Given the description of an element on the screen output the (x, y) to click on. 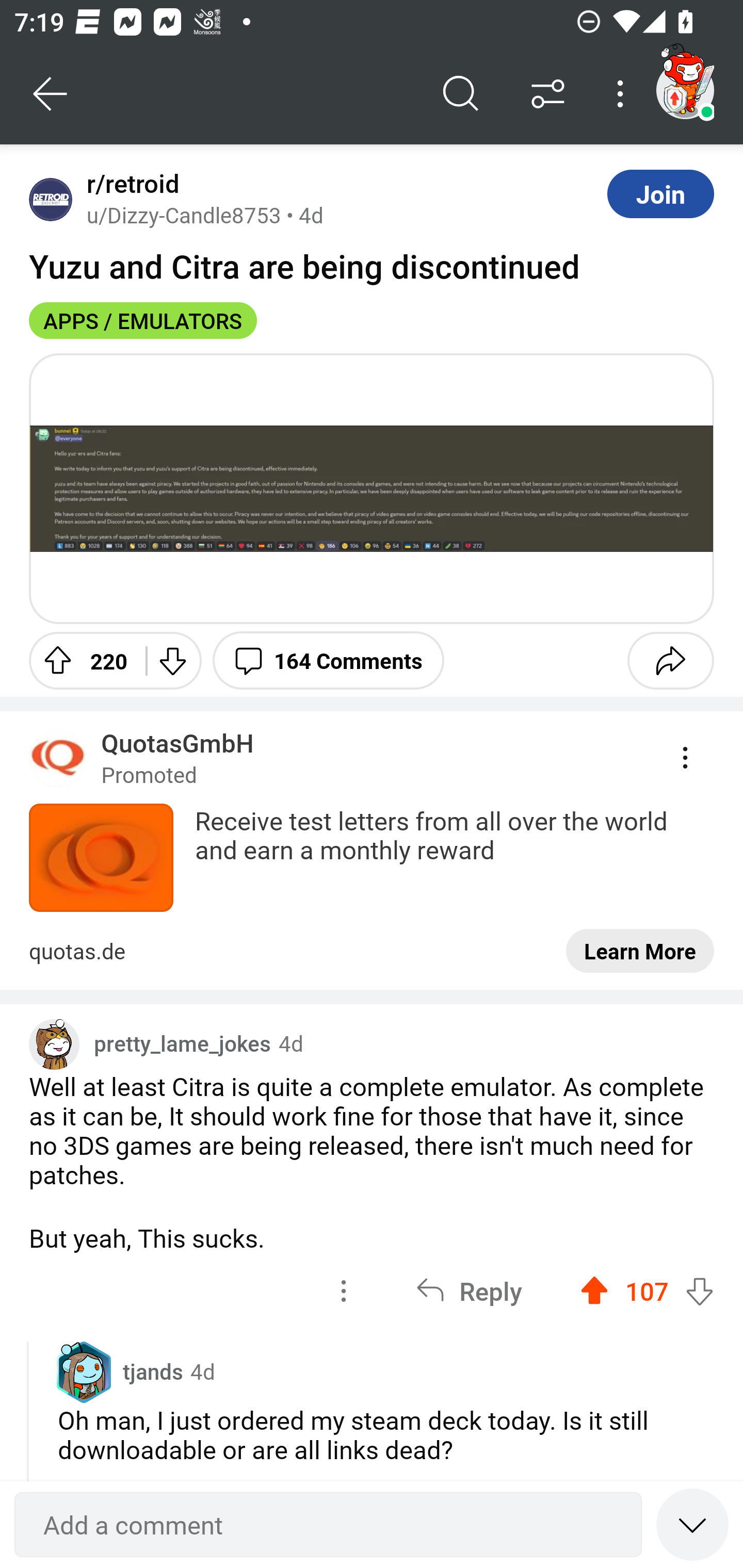
Back (50, 93)
TestAppium002 account (685, 90)
Search comments (460, 93)
Sort comments (547, 93)
More options (623, 93)
r/retroid (129, 183)
Join (660, 193)
Avatar (50, 199)
APPS / EMULATORS (142, 320)
Image (371, 488)
Upvote 220 (79, 660)
Downvote (171, 660)
164 Comments (328, 660)
Share (670, 660)
Custom avatar (53, 1044)
options (343, 1290)
Reply (469, 1290)
Upvote 107 107 votes Downvote (647, 1290)
Speed read (692, 1524)
Add a comment (327, 1524)
